Given the description of an element on the screen output the (x, y) to click on. 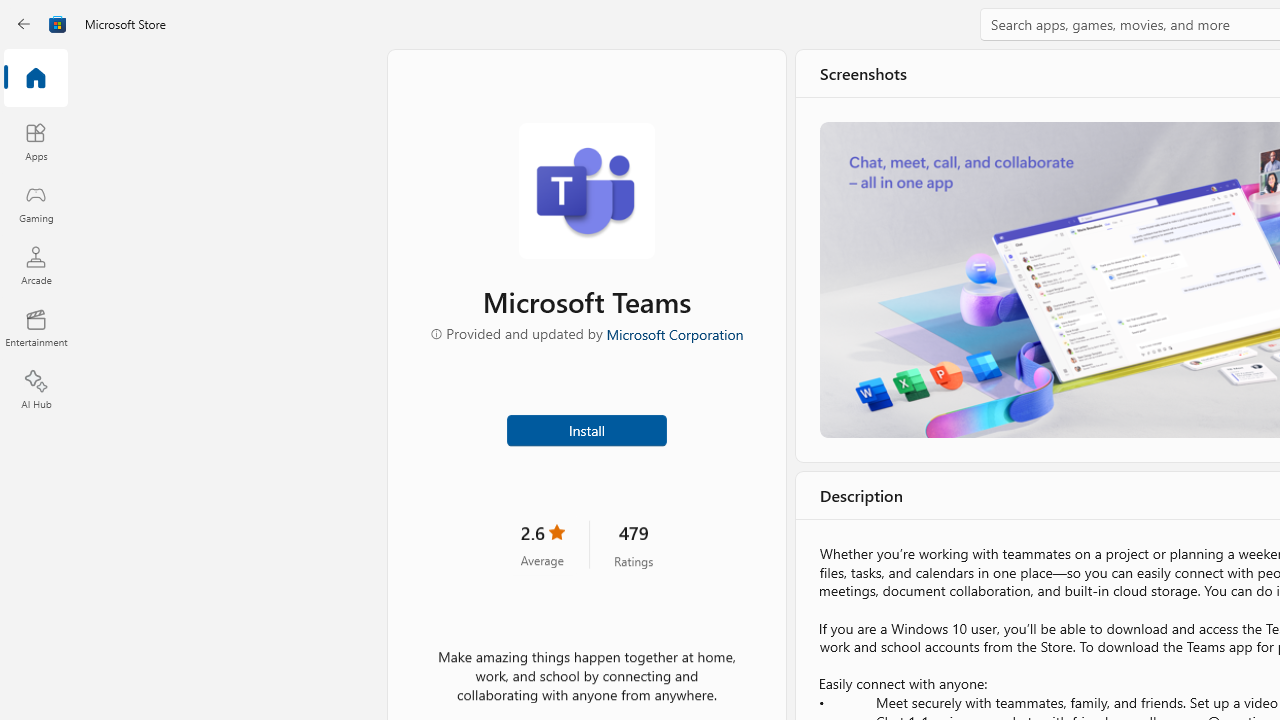
2.6 stars. Click to skip to ratings and reviews (542, 543)
Microsoft Corporation (673, 333)
Back (24, 24)
Install (586, 428)
